Given the description of an element on the screen output the (x, y) to click on. 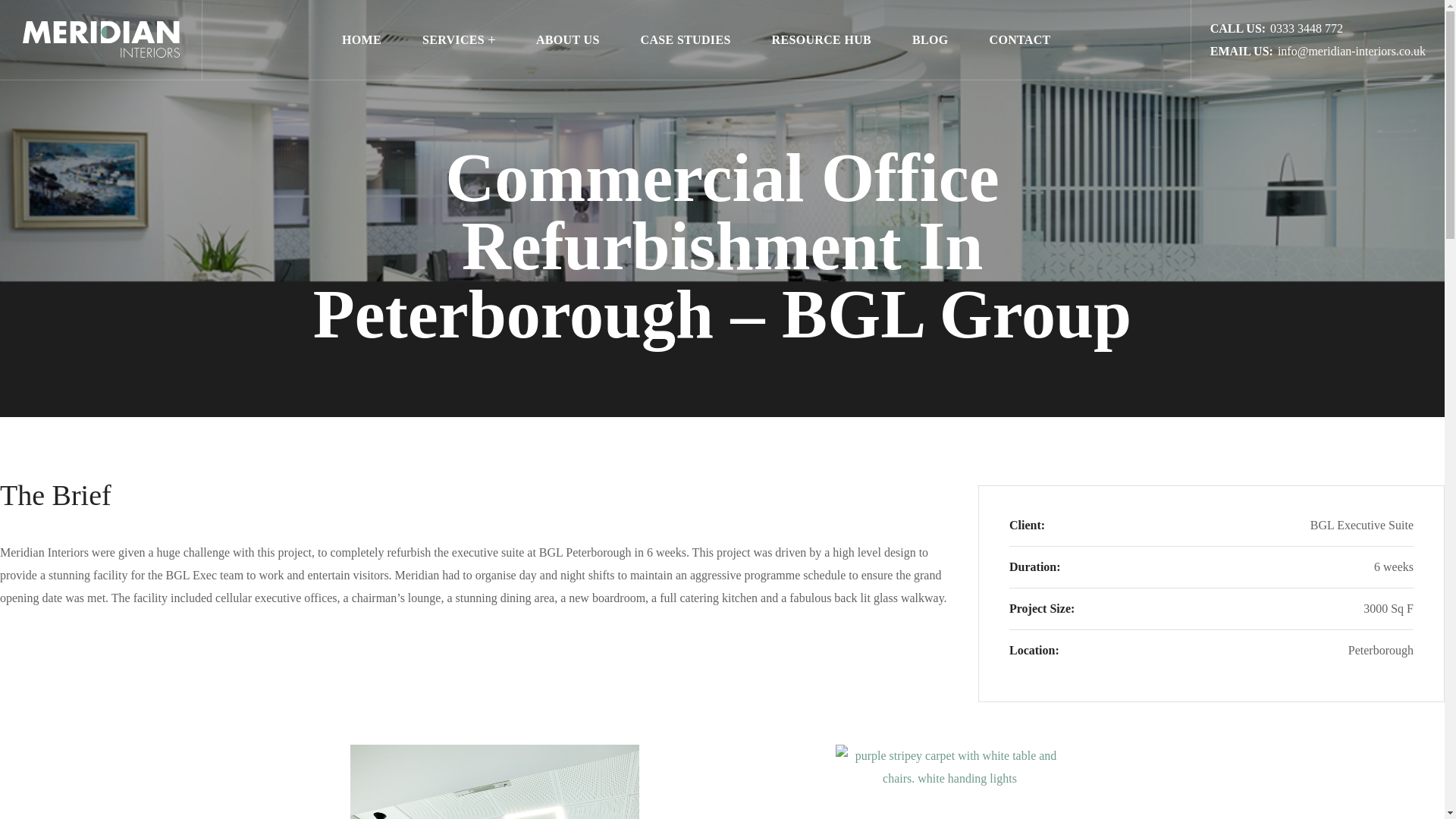
CASE STUDIES (685, 39)
BLOG (930, 39)
ABOUT US (567, 39)
CONTACT (1020, 39)
SERVICES (458, 39)
0333 3448 772 (1305, 27)
RESOURCE HUB (821, 39)
HOME (361, 39)
